Given the description of an element on the screen output the (x, y) to click on. 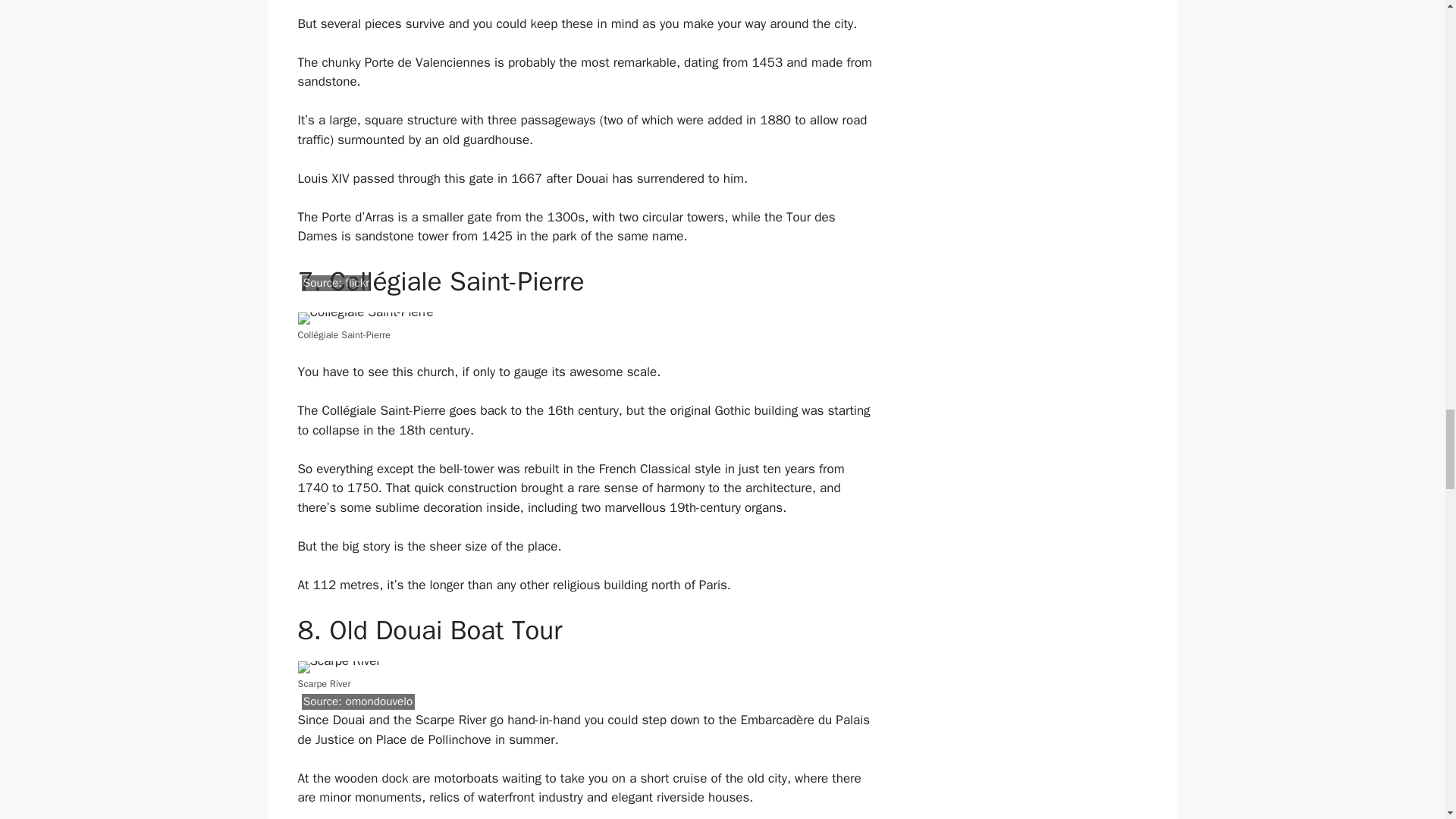
flickr (357, 282)
omondouvelo (378, 701)
